Given the description of an element on the screen output the (x, y) to click on. 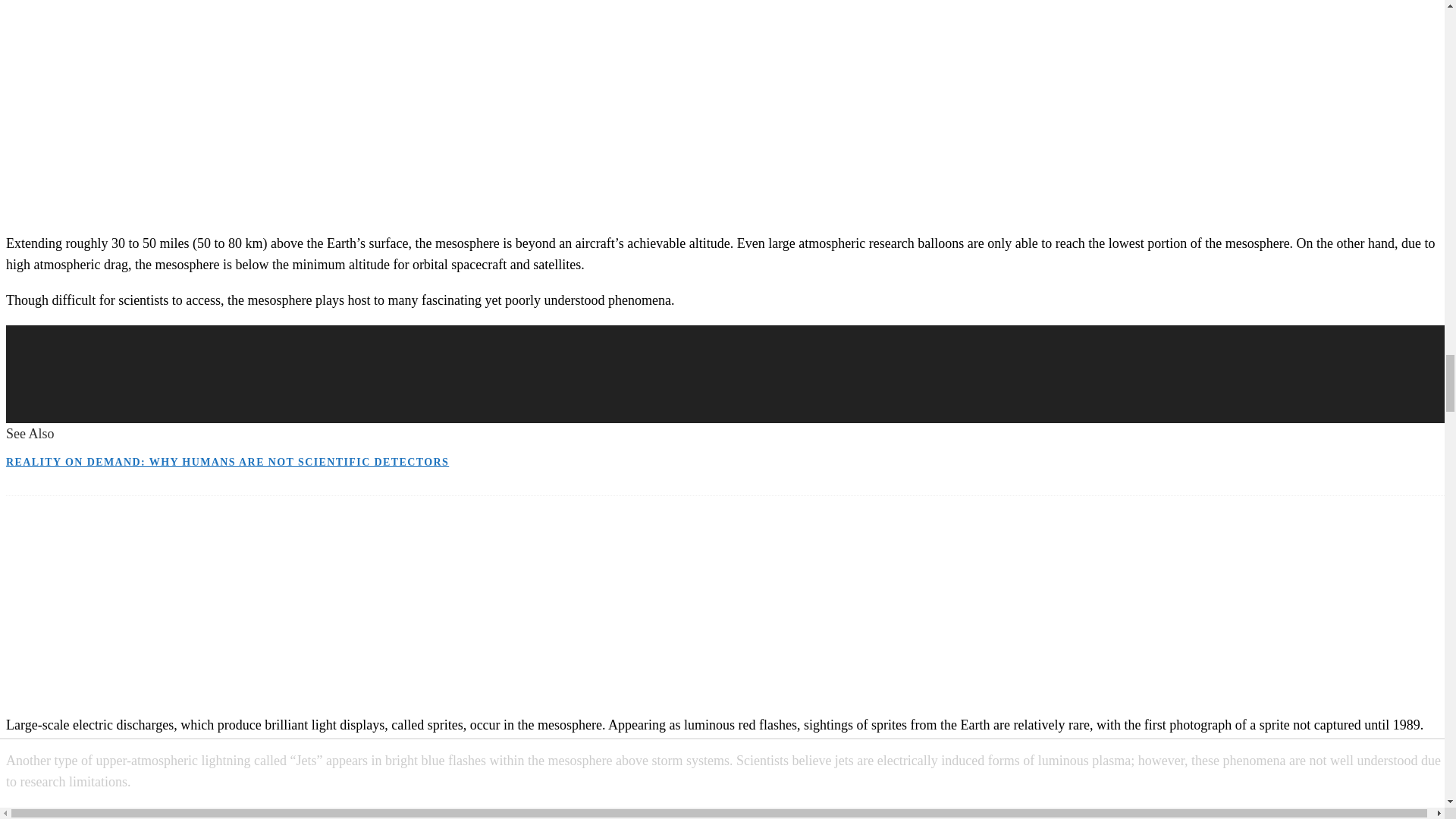
REALITY ON DEMAND: WHY HUMANS ARE NOT SCIENTIFIC DETECTORS (226, 461)
